Given the description of an element on the screen output the (x, y) to click on. 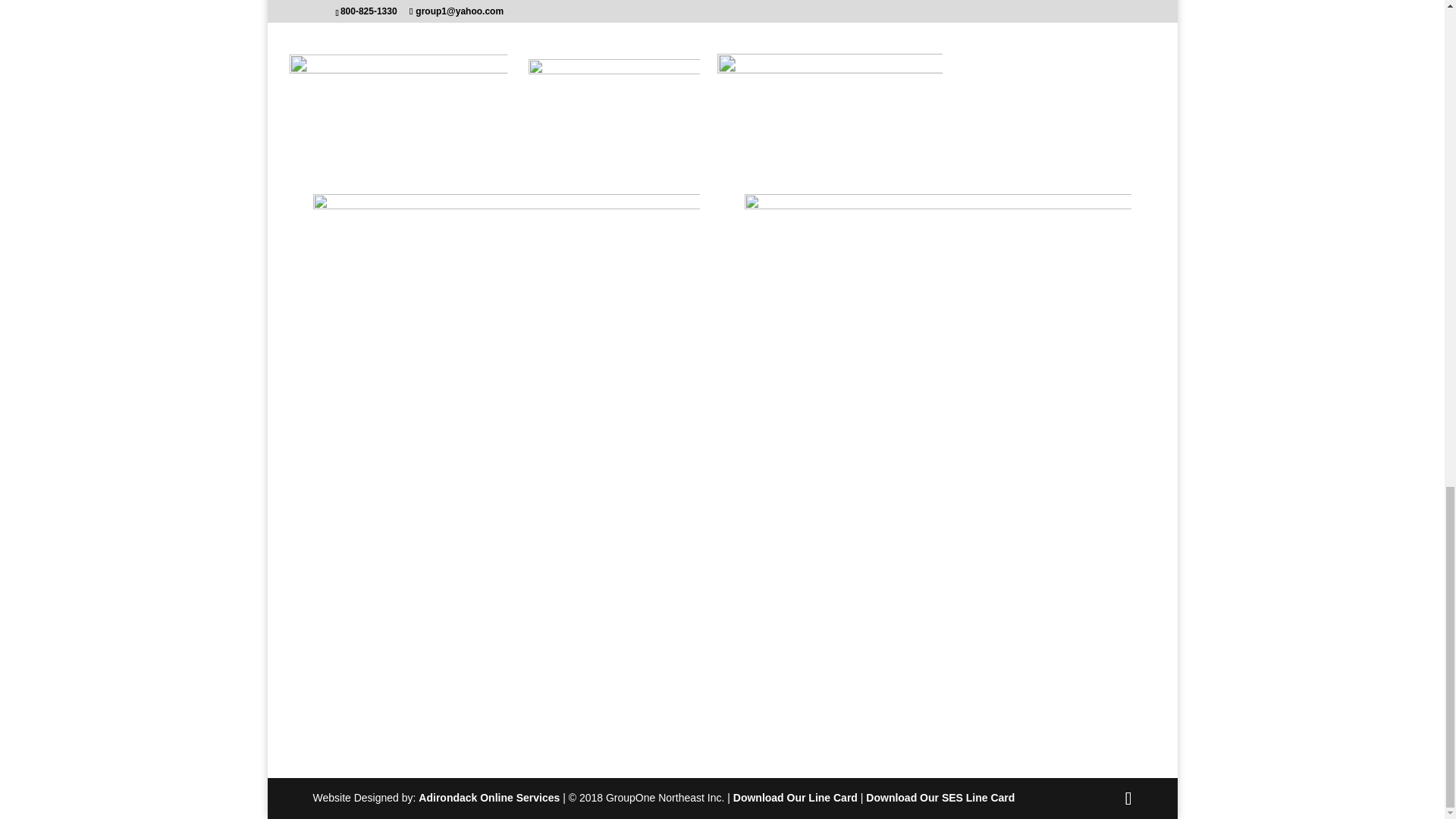
Print (802, 71)
Download Our SES Line Card (940, 797)
Adirondack Online Services (489, 797)
GroupOneLineCd1221 (629, 9)
Print (374, 72)
Print (613, 90)
Download Our Line Card (795, 797)
